Given the description of an element on the screen output the (x, y) to click on. 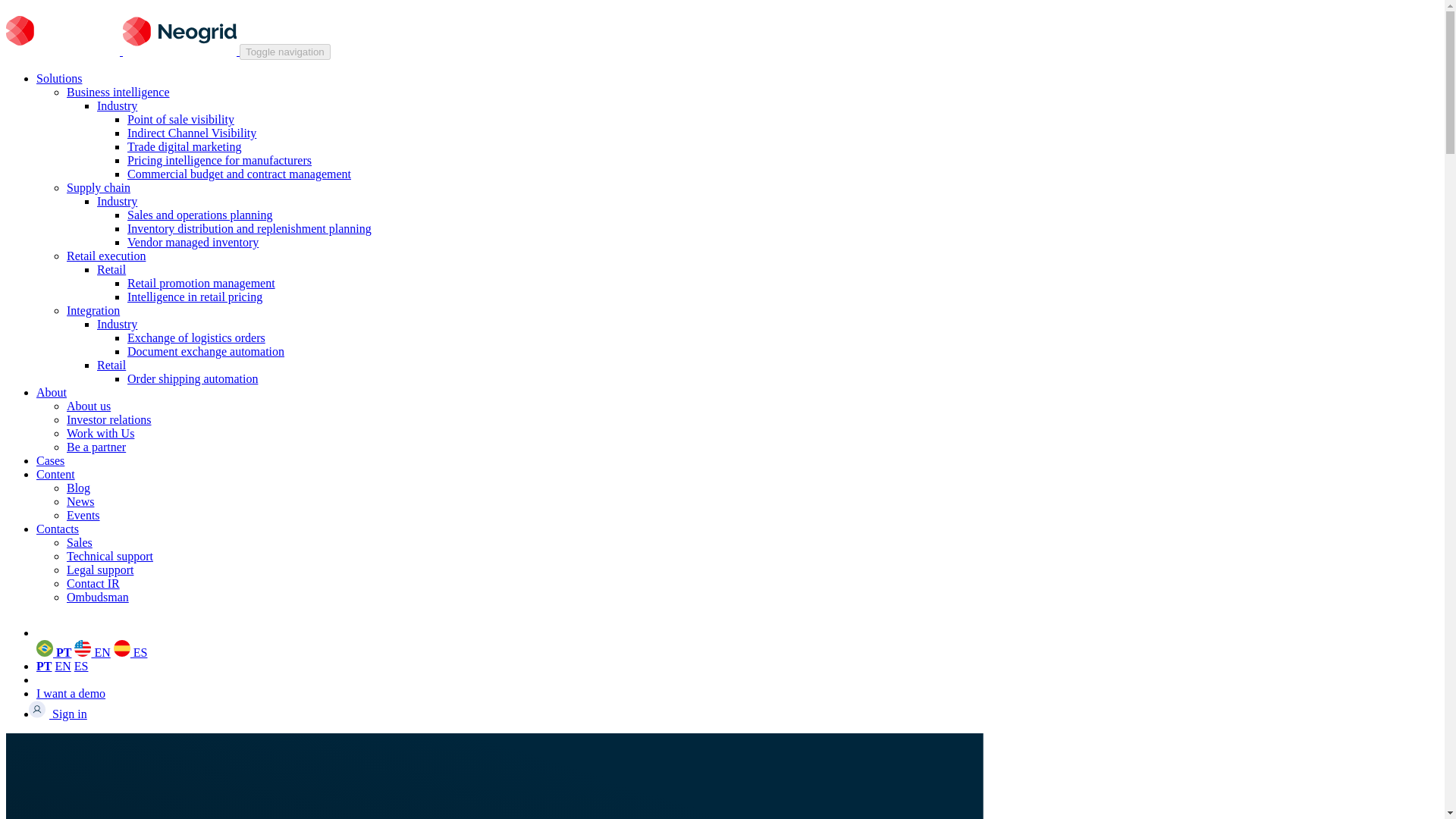
Be a partner (95, 446)
Toggle navigation (285, 51)
News (80, 501)
Inventory distribution and replenishment planning (249, 228)
Contact IR (92, 583)
Solutions (58, 78)
Events (83, 514)
Trade digital marketing (184, 146)
Business intelligence (118, 91)
Content (55, 473)
